Given the description of an element on the screen output the (x, y) to click on. 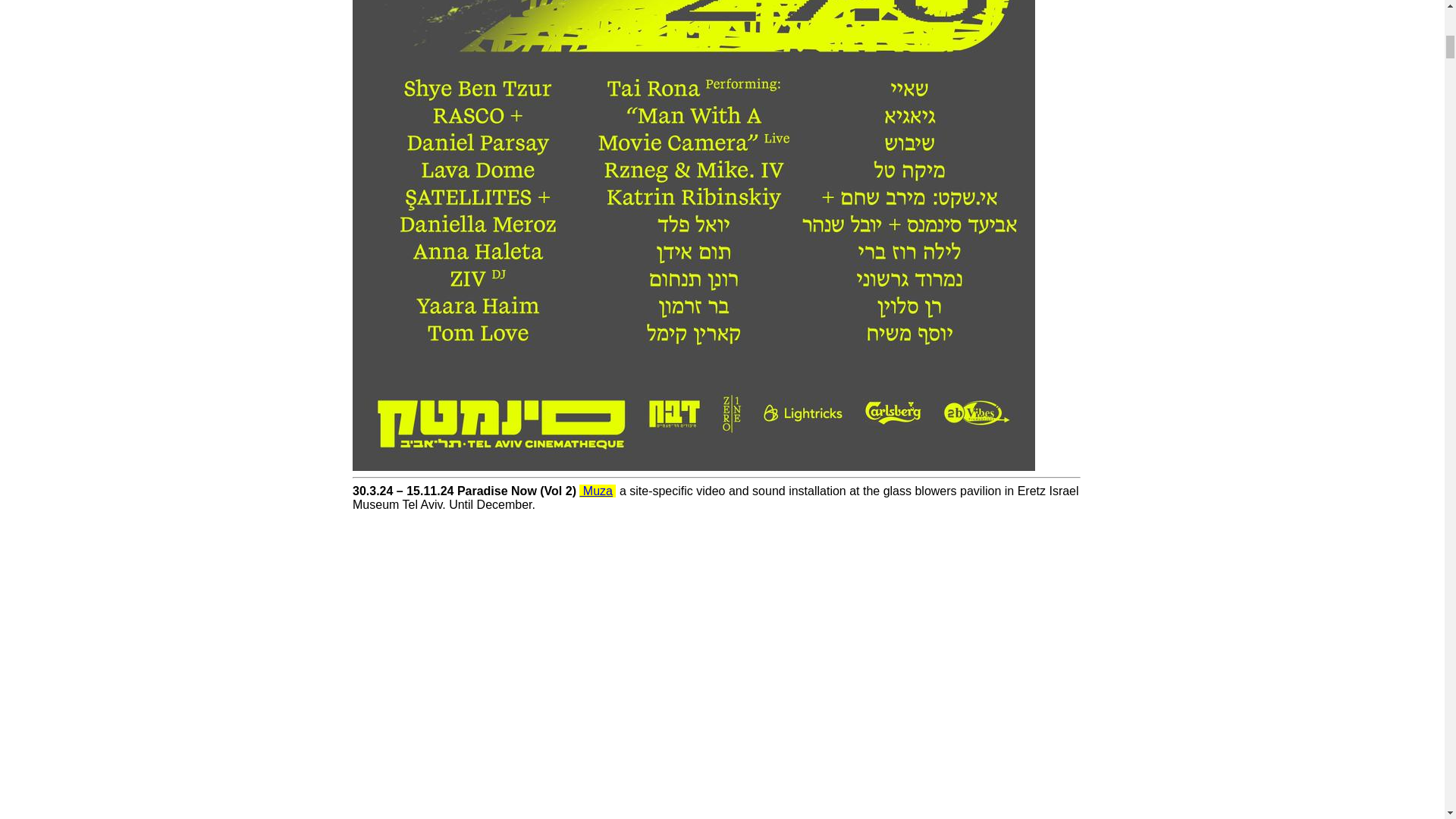
 Muza (595, 490)
